Given the description of an element on the screen output the (x, y) to click on. 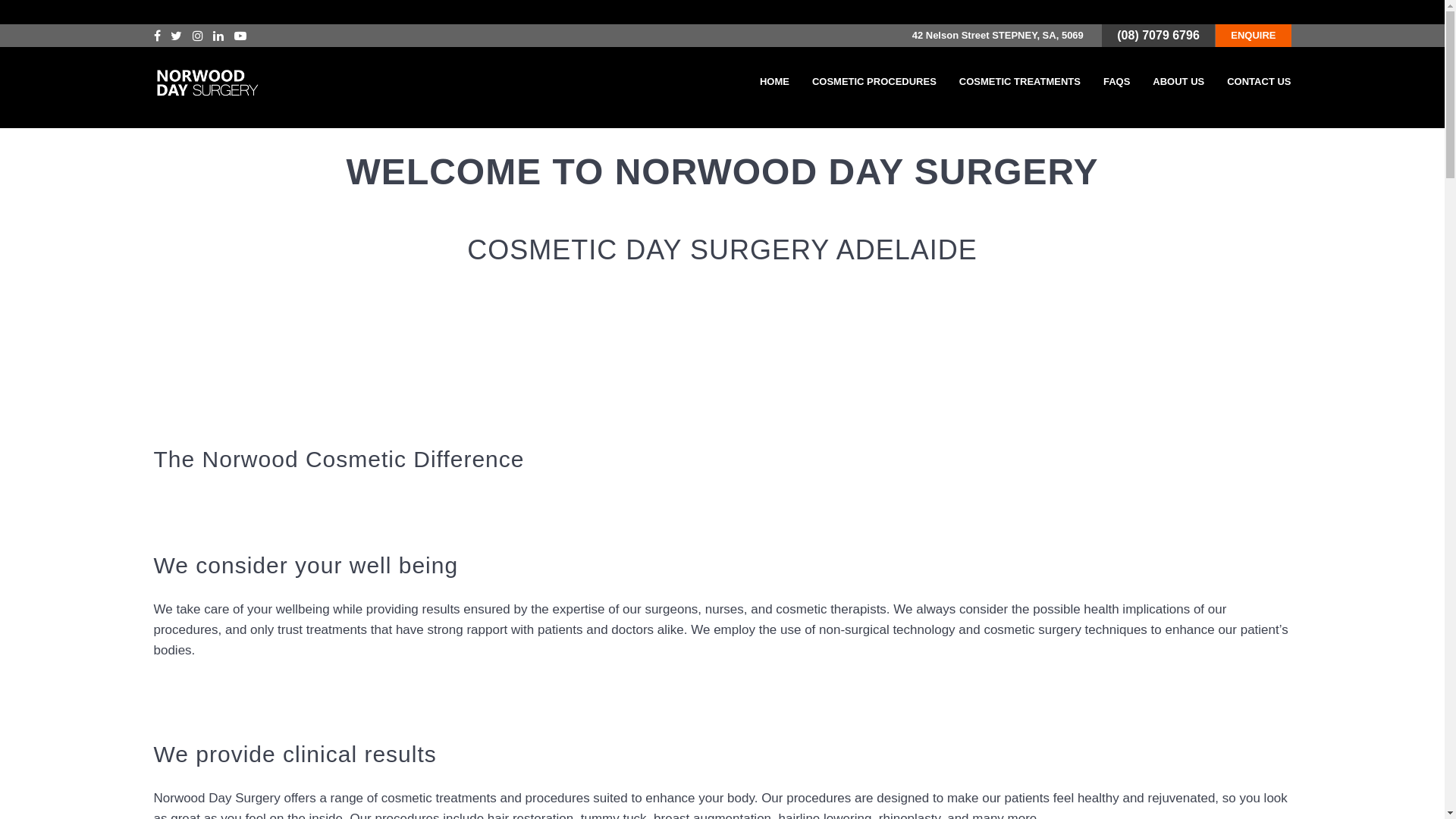
ABOUT US Element type: text (1178, 81)
(08) 7079 6796 Element type: text (1158, 34)
COSMETIC PROCEDURES Element type: text (874, 81)
HOME Element type: text (774, 81)
ENQUIRE Element type: text (1252, 35)
COSMETIC TREATMENTS Element type: text (1019, 81)
CONTACT US Element type: text (1258, 81)
FAQS Element type: text (1116, 81)
